Given the description of an element on the screen output the (x, y) to click on. 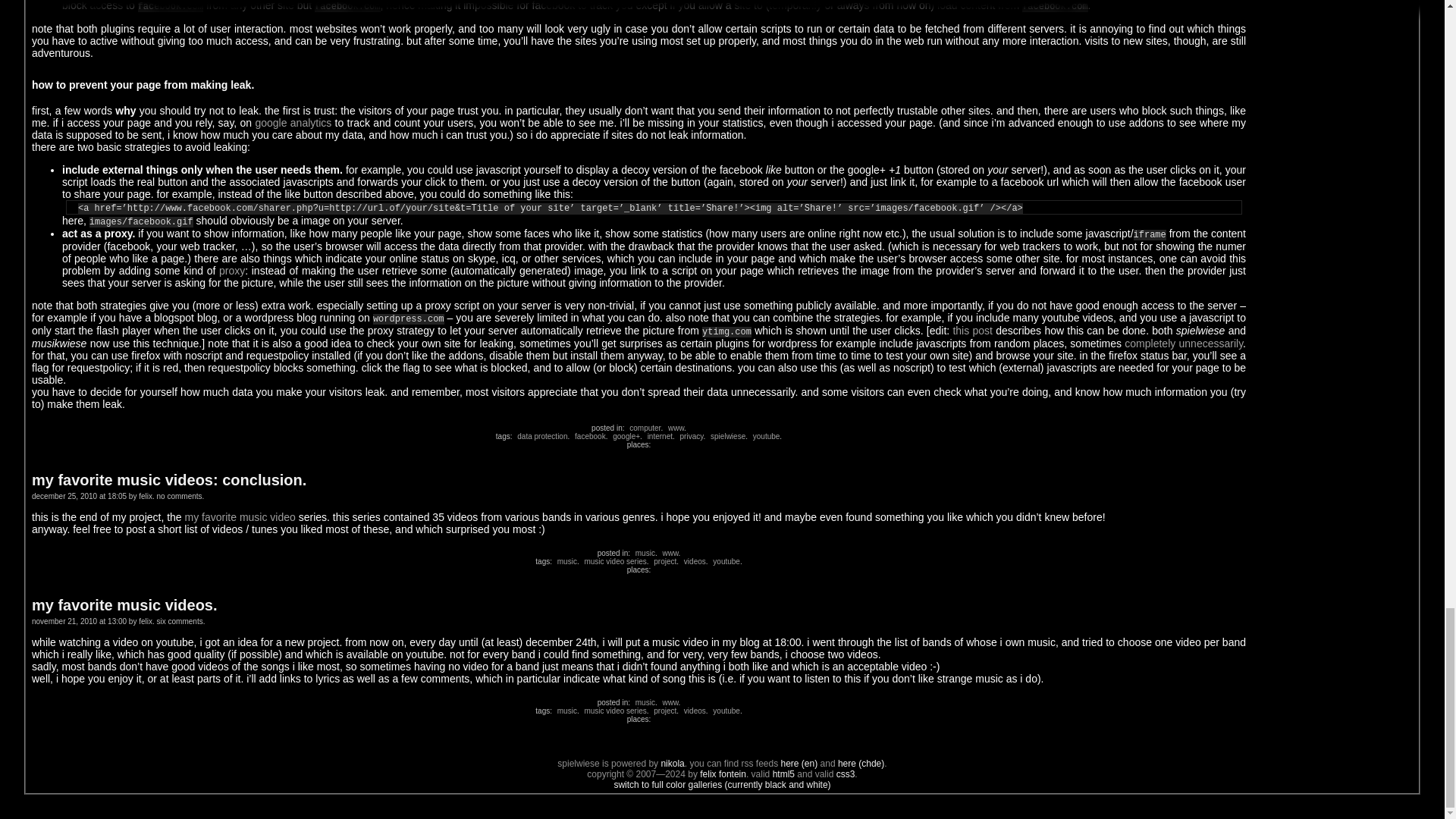
proxy (231, 270)
completely unnecessarily (1183, 343)
computer (643, 428)
google analytics (292, 122)
this post (972, 330)
